Given the description of an element on the screen output the (x, y) to click on. 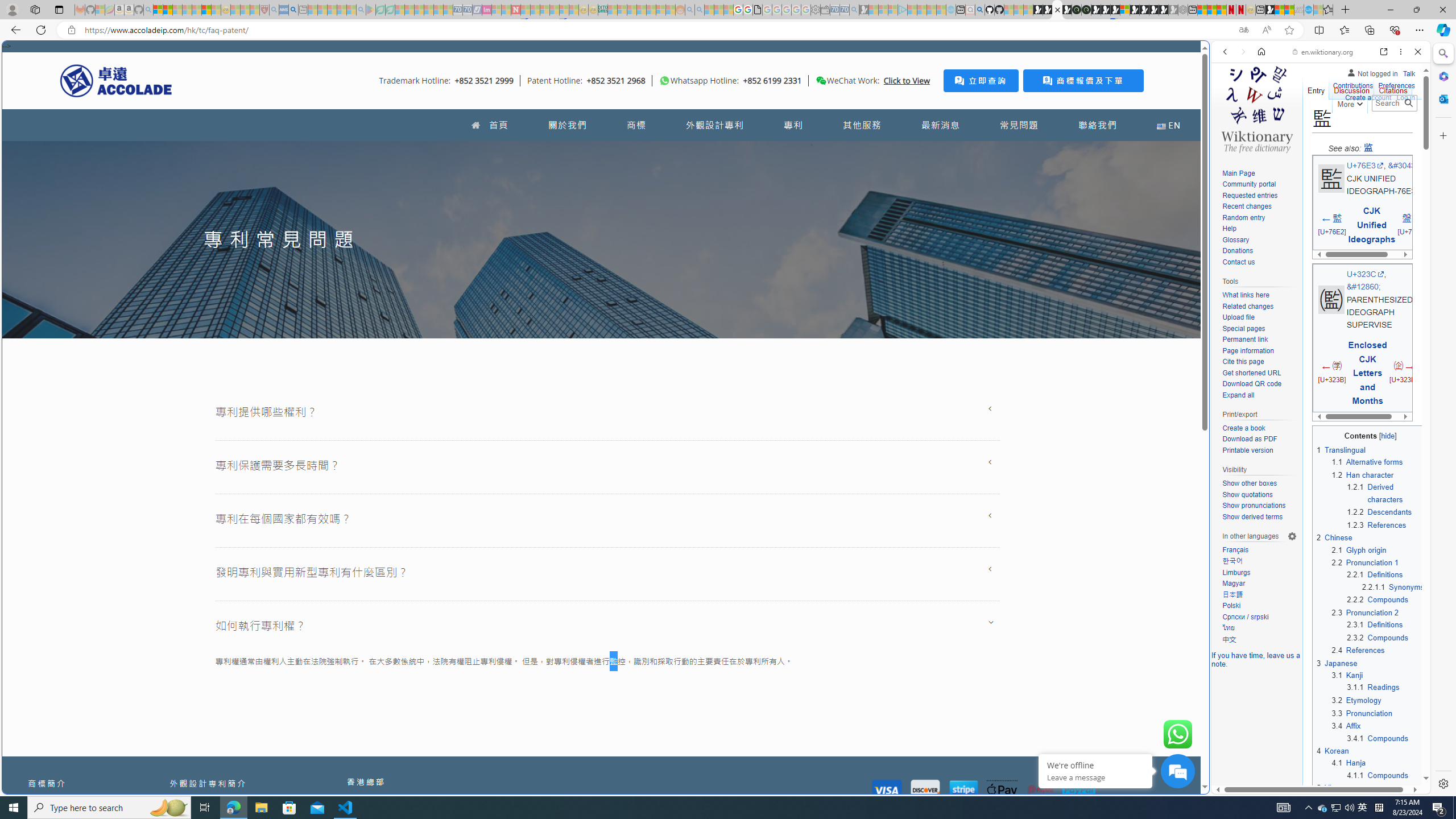
3.4.1Compounds (1385, 738)
Talk (1408, 73)
Show derived terms (1259, 517)
Earth has six continents not seven, radical new study claims (1288, 9)
3.2 Etymology (1355, 700)
